Given the description of an element on the screen output the (x, y) to click on. 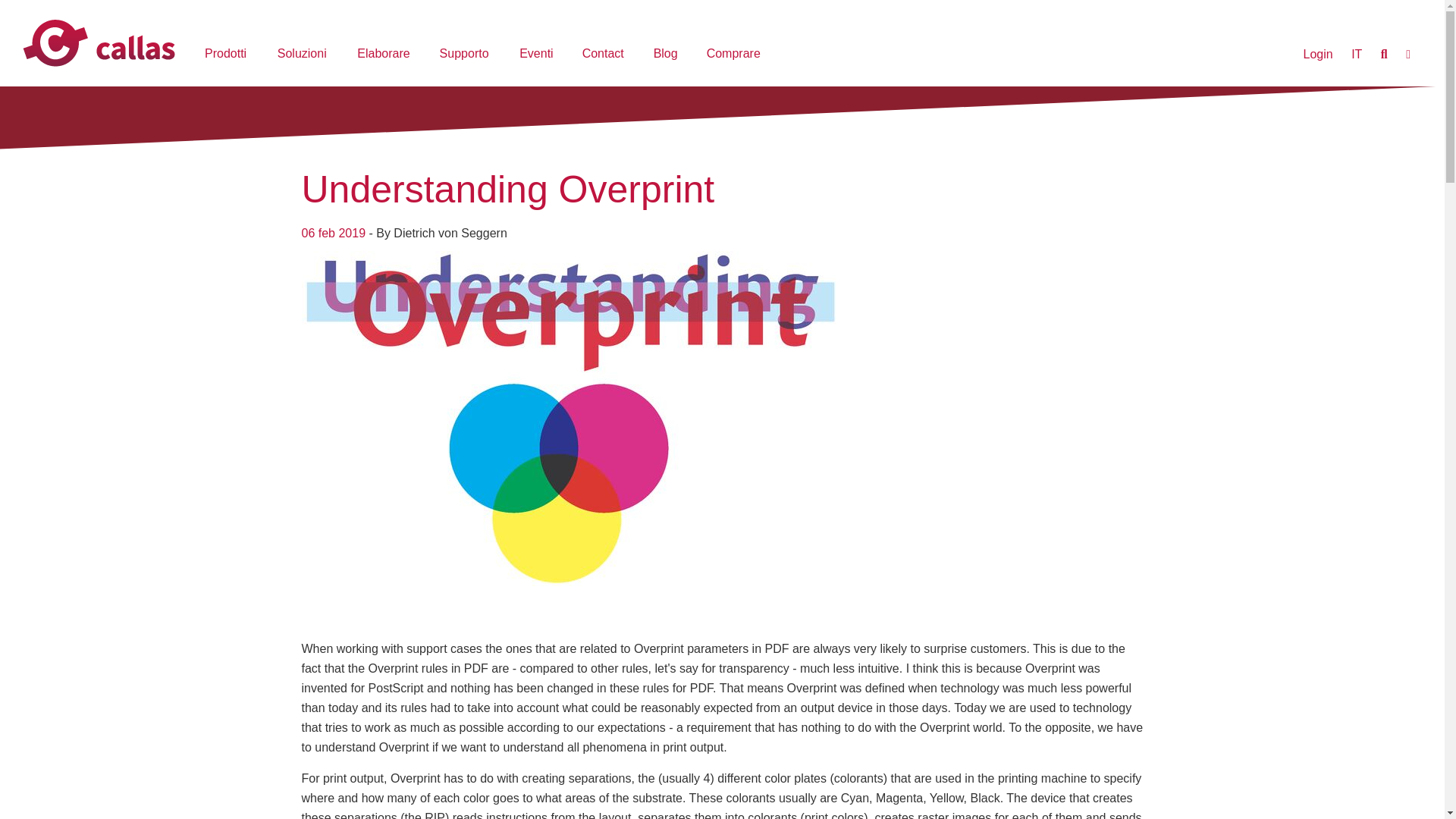
Prodotti (227, 54)
Login (1318, 54)
Soluzioni (304, 54)
Soluzioni (304, 54)
Prodotti (227, 54)
